Given the description of an element on the screen output the (x, y) to click on. 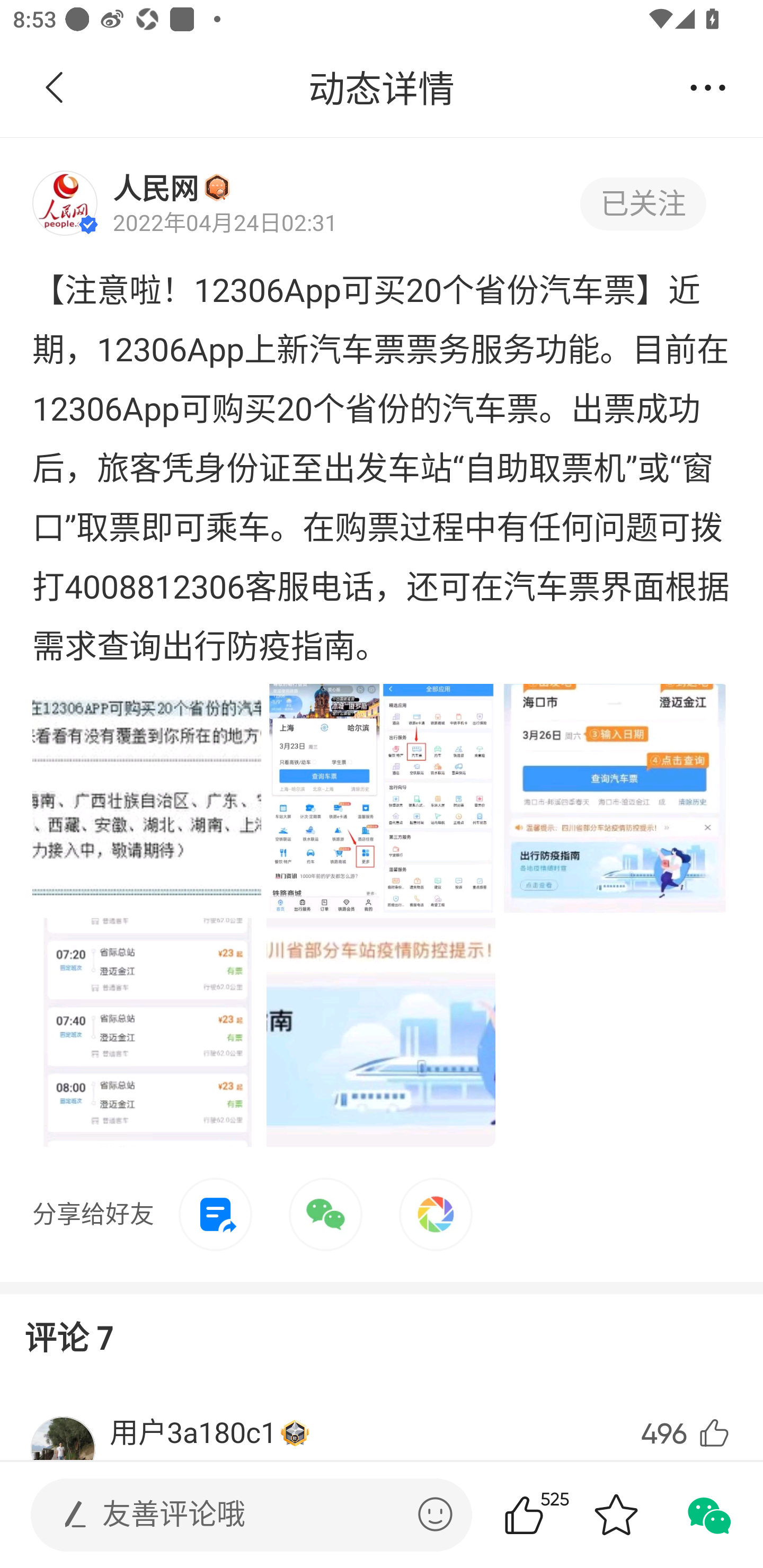
分享  (707, 87)
 返回 (54, 87)
人民网 (155, 186)
勋章 (216, 187)
已关注 (642, 203)
2022年04月24日02:31 (224, 221)
评论 7 (68, 1334)
UserRightLabel_OneMedalView 勋章 (294, 1433)
发表评论  友善评论哦 发表评论  (236, 1514)
525赞 (549, 1514)
收藏  (616, 1514)
分享到微信  (707, 1514)
 (435, 1514)
